Given the description of an element on the screen output the (x, y) to click on. 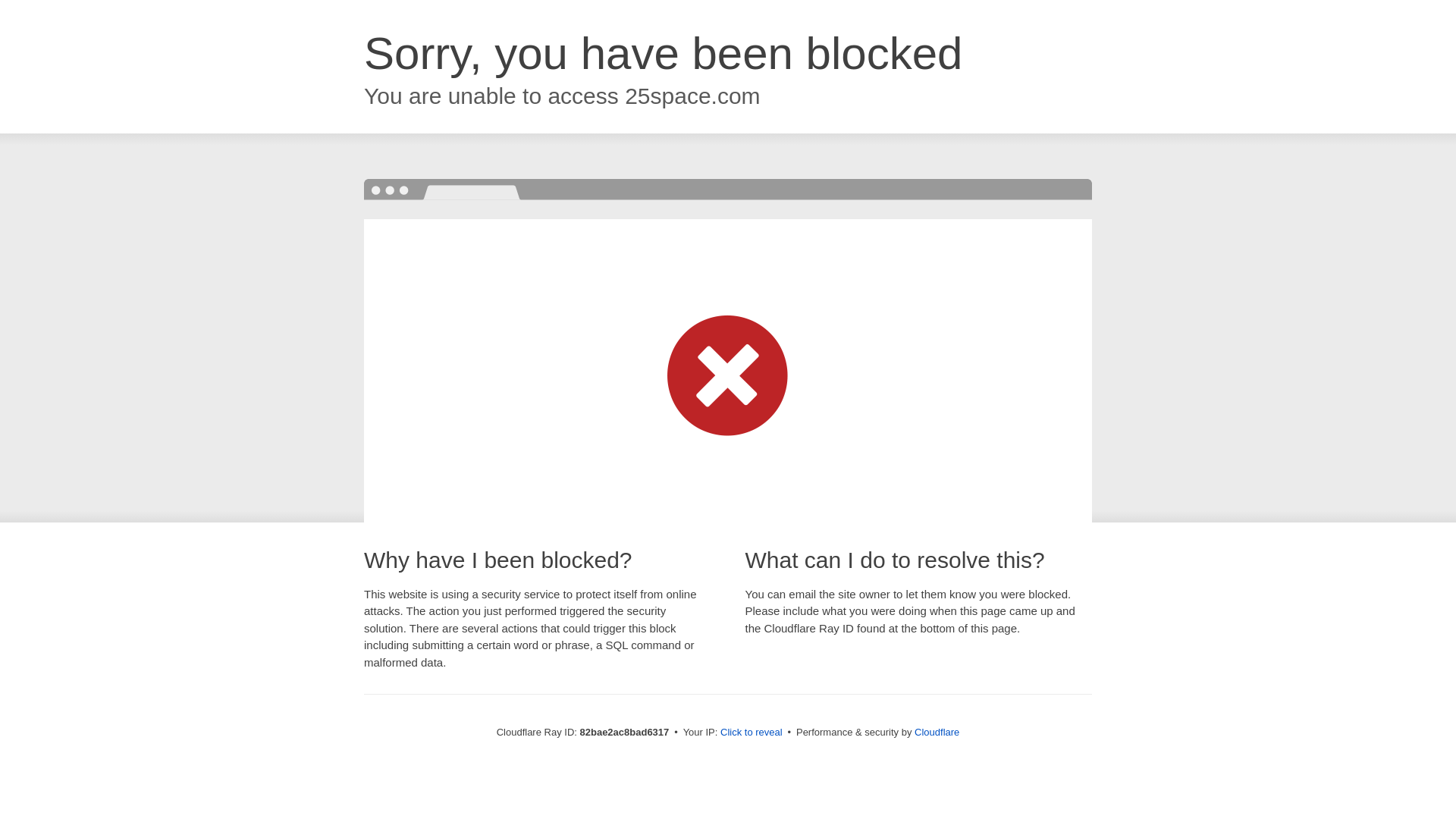
Click to reveal Element type: text (751, 732)
Cloudflare Element type: text (936, 731)
